Given the description of an element on the screen output the (x, y) to click on. 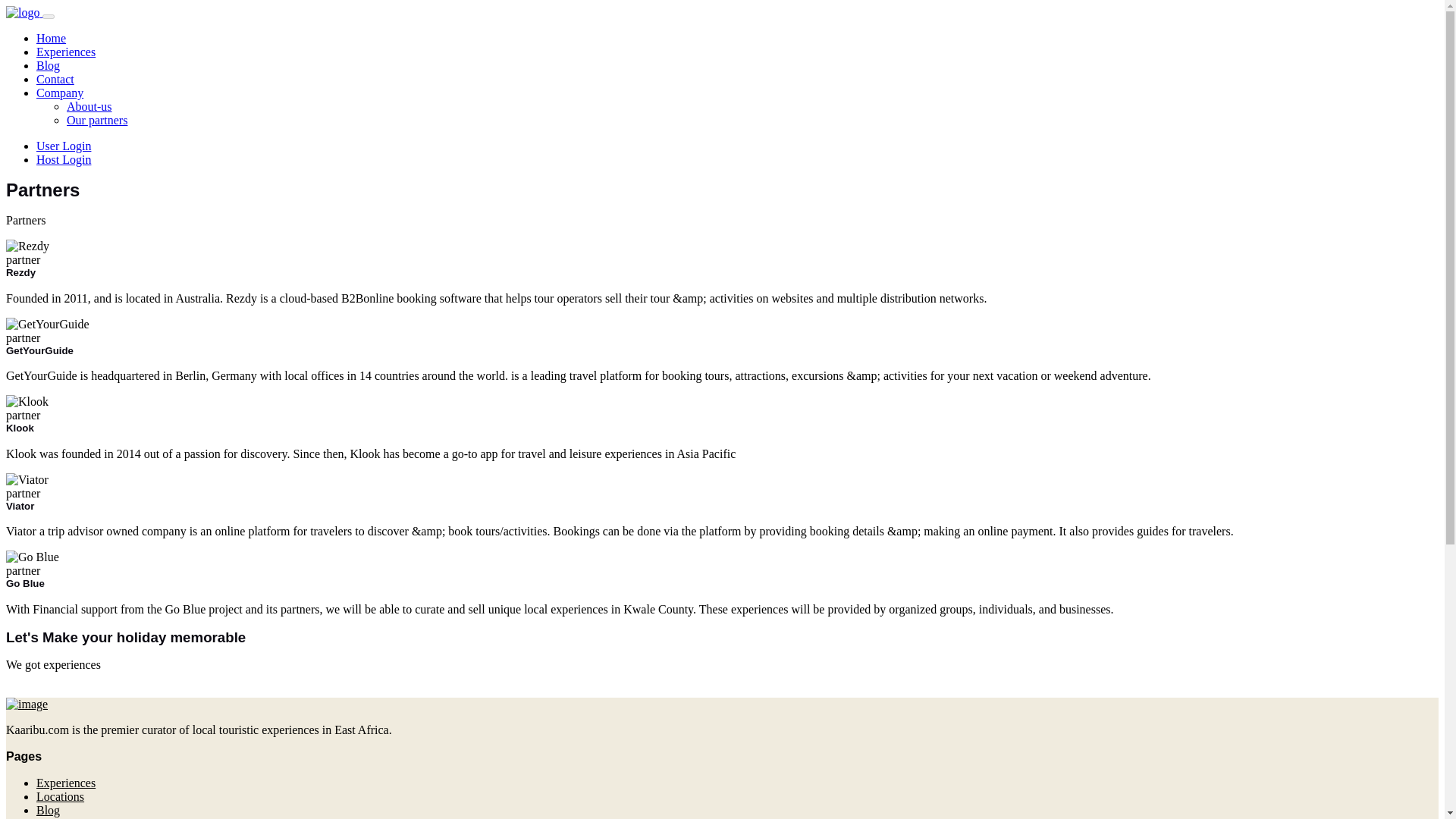
User Login (63, 145)
Blog (47, 65)
Experiences (66, 51)
Locations (60, 796)
About-us (89, 106)
Our partners (97, 119)
Company (59, 92)
Home (50, 38)
Experiences (66, 782)
Contact (55, 78)
